Given the description of an element on the screen output the (x, y) to click on. 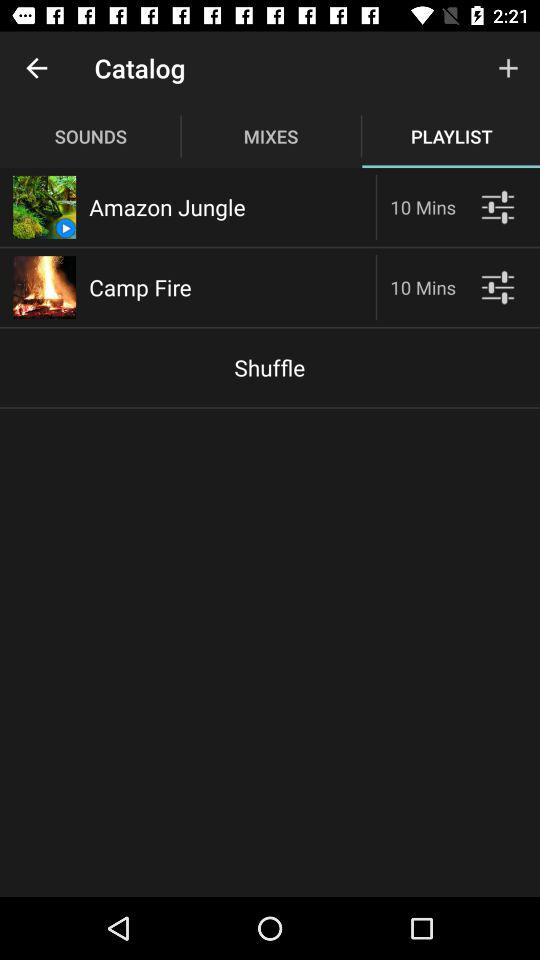
equalizer (498, 206)
